Given the description of an element on the screen output the (x, y) to click on. 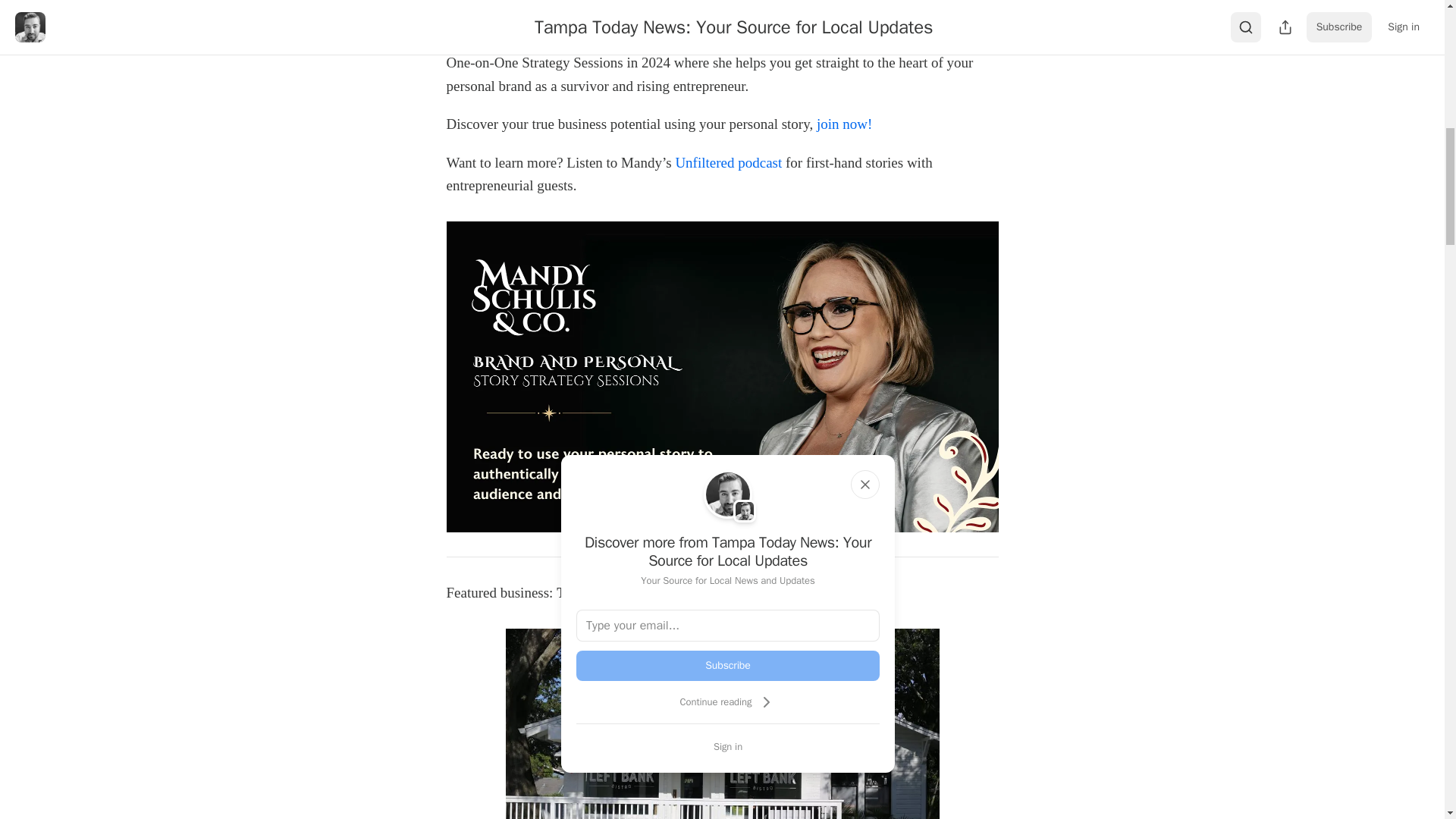
join now! (844, 123)
Subscribe (727, 665)
Unfiltered podcast (727, 162)
Sign in (727, 746)
